Given the description of an element on the screen output the (x, y) to click on. 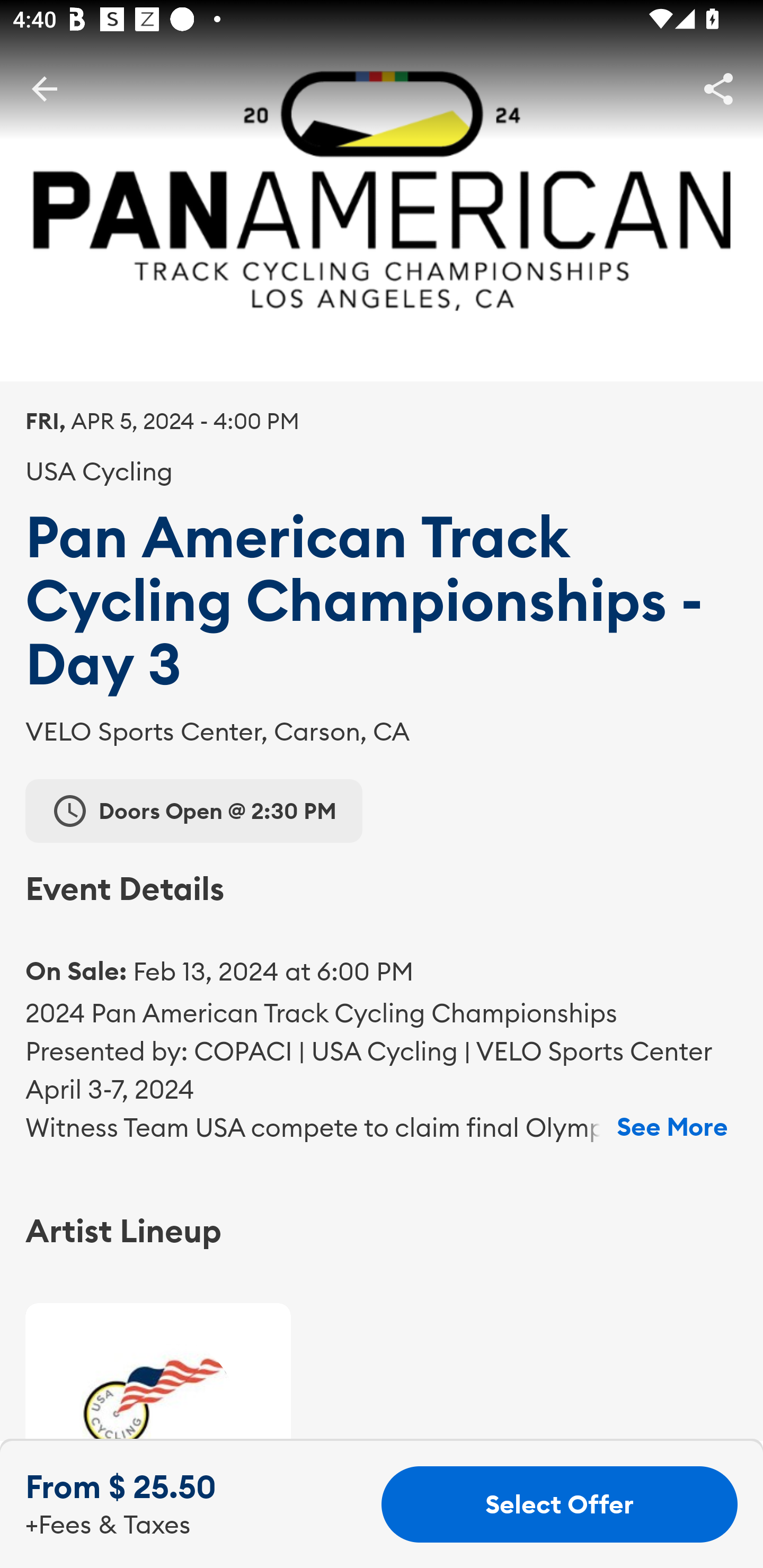
BackButton (44, 88)
Share (718, 88)
See More (671, 1127)
Select Offer (559, 1504)
